Given the description of an element on the screen output the (x, y) to click on. 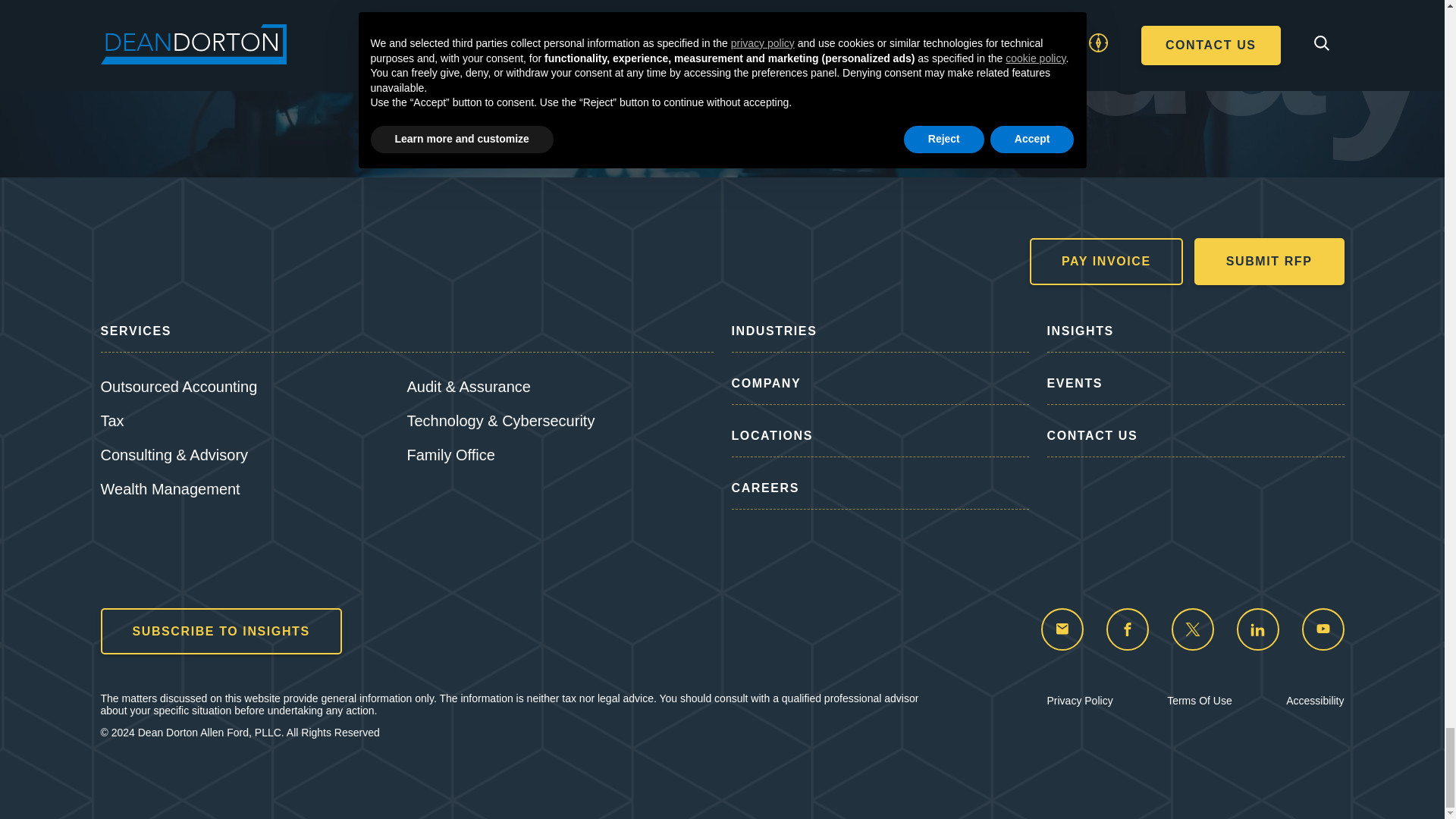
Dean Dorton - CPAs and Advisors on email (1062, 629)
Dean Dorton - CPAs and Advisors on twitter (1191, 629)
Dean Dorton - CPAs and Advisors on Facebook (1126, 629)
Dean Dorton - CPAs and Advisors on YouTube (1322, 629)
Dean Dorton - CPAs and Advisors on LinkedIn (1257, 629)
